Given the description of an element on the screen output the (x, y) to click on. 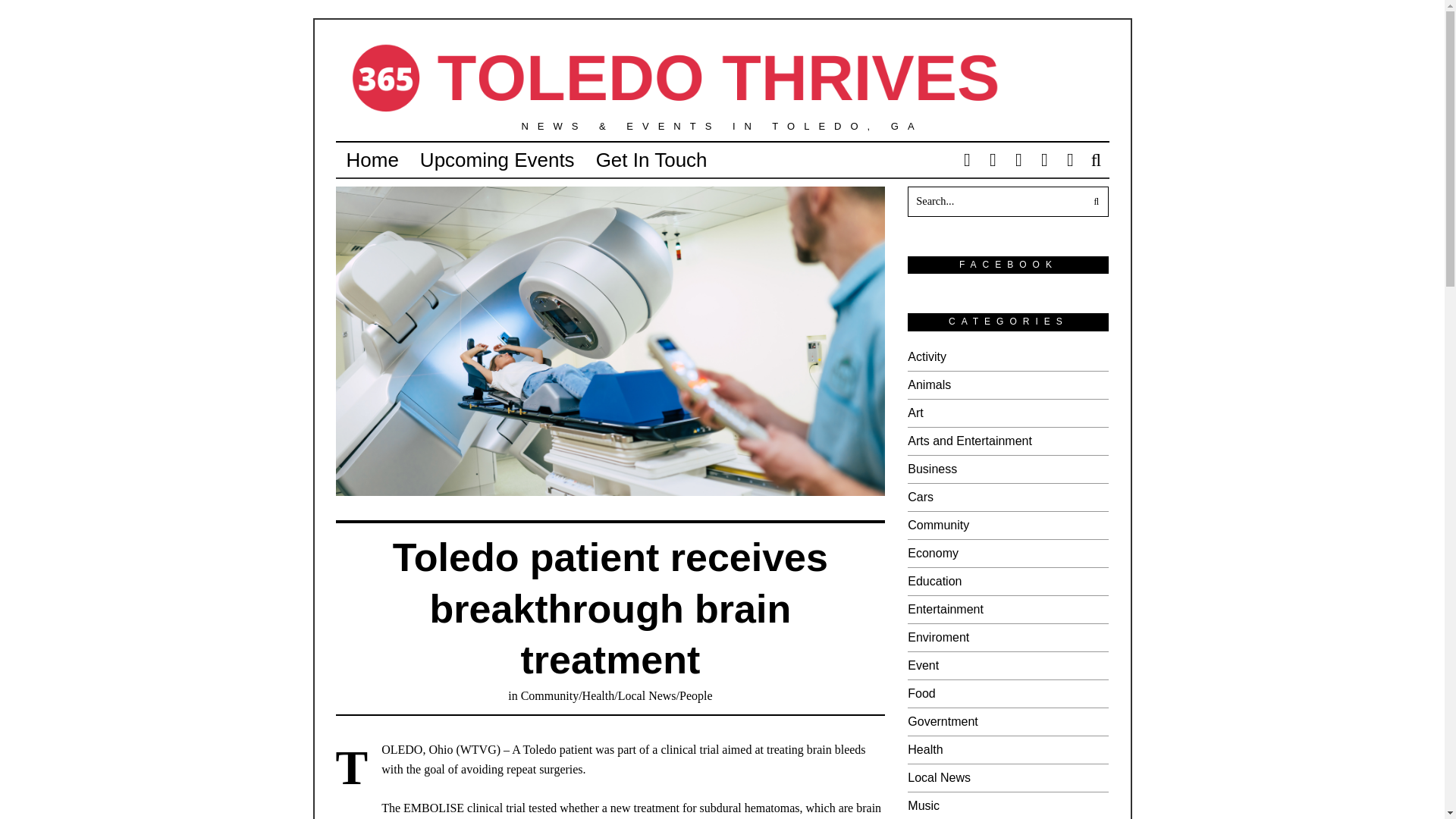
Activity (926, 356)
Home (371, 159)
Health (598, 695)
Get In Touch (651, 159)
Local News (647, 695)
Go (1093, 201)
People (696, 695)
Animals (928, 384)
Art (915, 412)
Upcoming Events (497, 159)
